Given the description of an element on the screen output the (x, y) to click on. 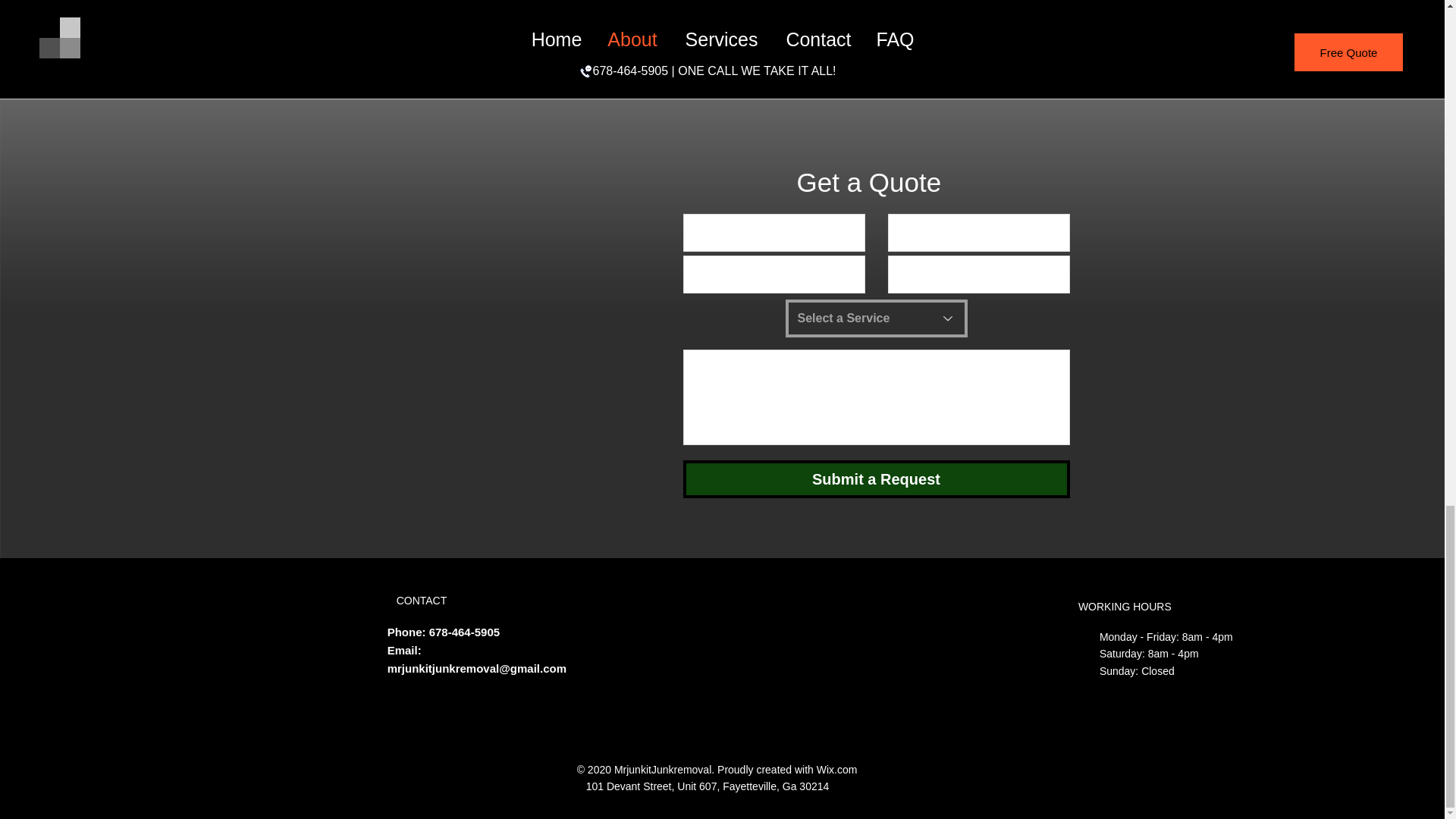
Wix.com (836, 769)
Submit a Request (875, 478)
